Given the description of an element on the screen output the (x, y) to click on. 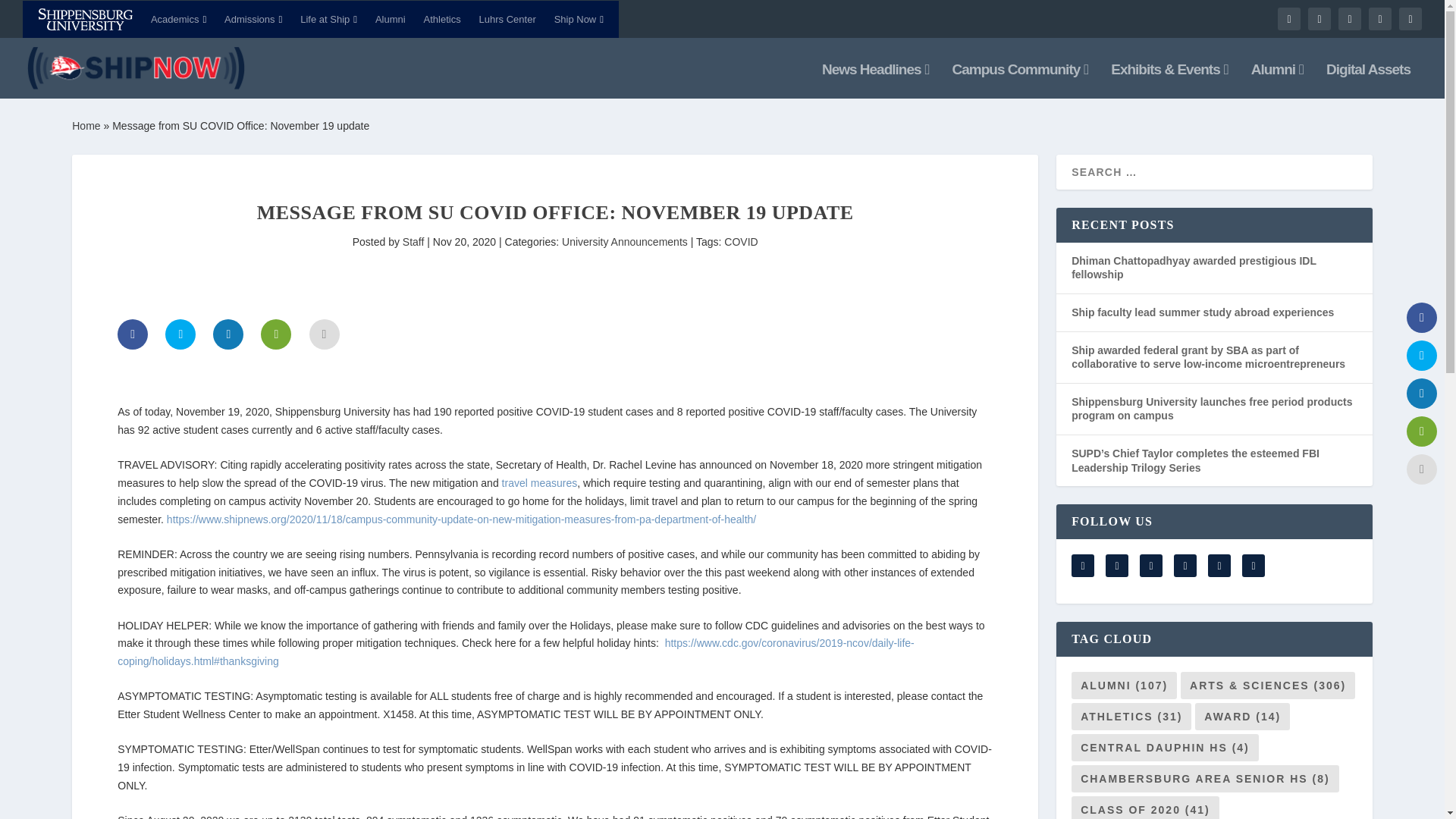
Luhrs Center (507, 18)
Posts by Staff (414, 241)
Campus Community (1020, 81)
Life at Ship (327, 18)
Admissions (253, 18)
Ship.edu (84, 19)
Academics (178, 18)
Ship Now (579, 18)
Athletics (442, 18)
News Headlines (876, 81)
